Given the description of an element on the screen output the (x, y) to click on. 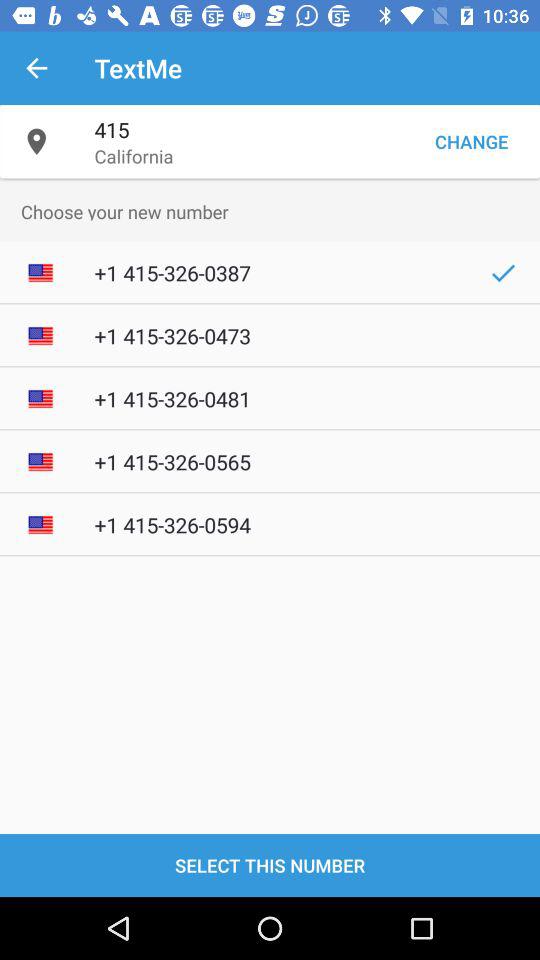
click the select this number item (270, 864)
